Given the description of an element on the screen output the (x, y) to click on. 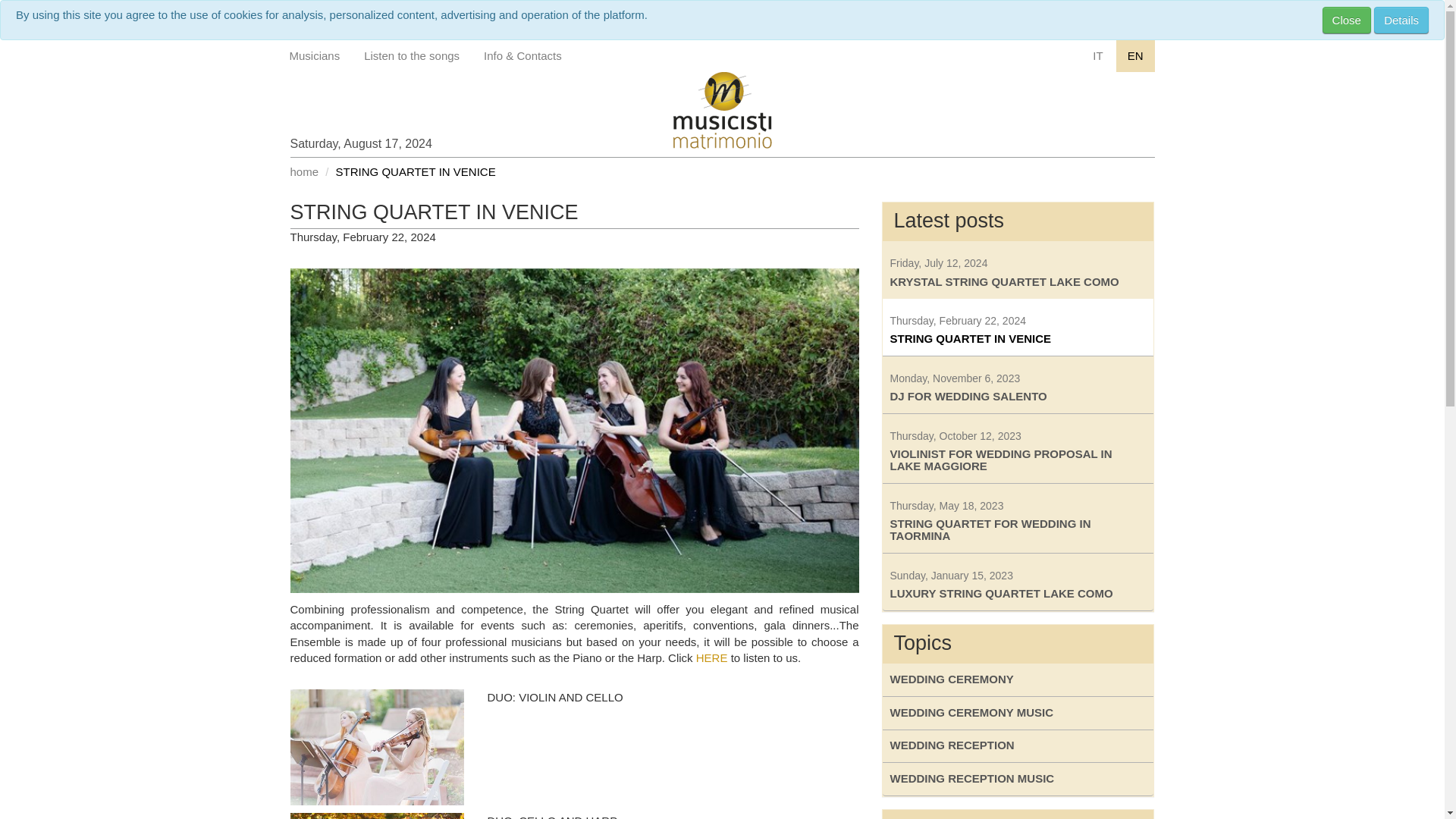
home (303, 171)
IT (1097, 55)
Close (1346, 19)
WEDDING CEREMONY MUSIC (1018, 581)
WEDDING CEREMONY (1018, 713)
Listen to the songs (1018, 680)
